Given the description of an element on the screen output the (x, y) to click on. 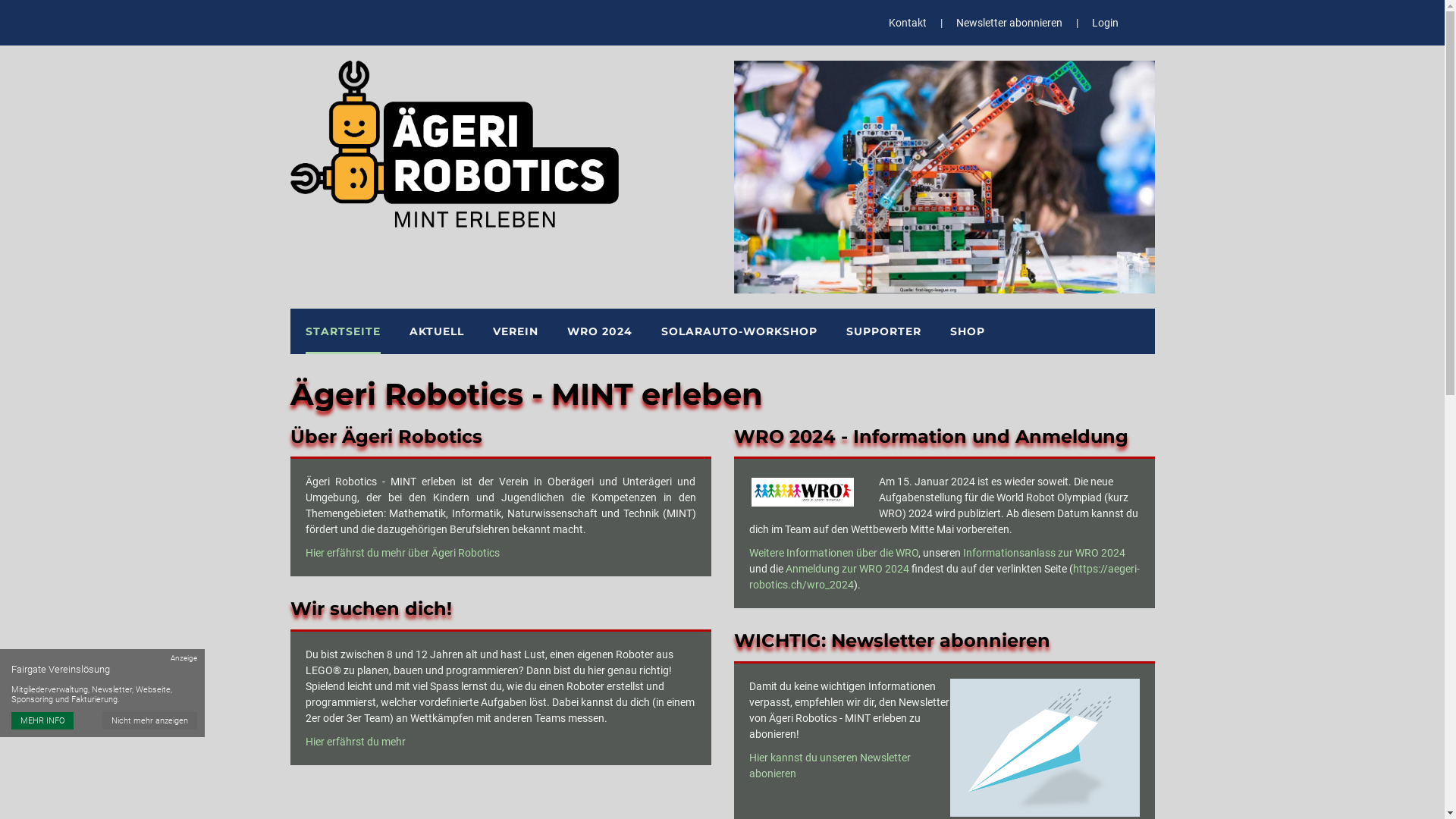
VEREIN Element type: text (515, 331)
Login Element type: text (1104, 22)
MEHR INFO Element type: text (42, 720)
Kontakt Element type: text (907, 22)
AKTUELL Element type: text (436, 331)
Nicht mehr anzeigen Element type: text (149, 720)
Hier kannst du unseren Newsletter abonieren Element type: text (829, 765)
https://aegeri-robotics.ch/wro_2024 Element type: text (944, 576)
Informationsanlass zur WRO 2024 Element type: text (1044, 552)
SOLARAUTO-WORKSHOP Element type: text (739, 331)
Newsletter abonnieren Element type: text (1008, 22)
WRO 2024 Element type: text (599, 331)
SHOP Element type: text (966, 331)
SUPPORTER Element type: text (883, 331)
Anmeldung zur WRO 2024 Element type: text (847, 568)
STARTSEITE Element type: text (341, 331)
